Given the description of an element on the screen output the (x, y) to click on. 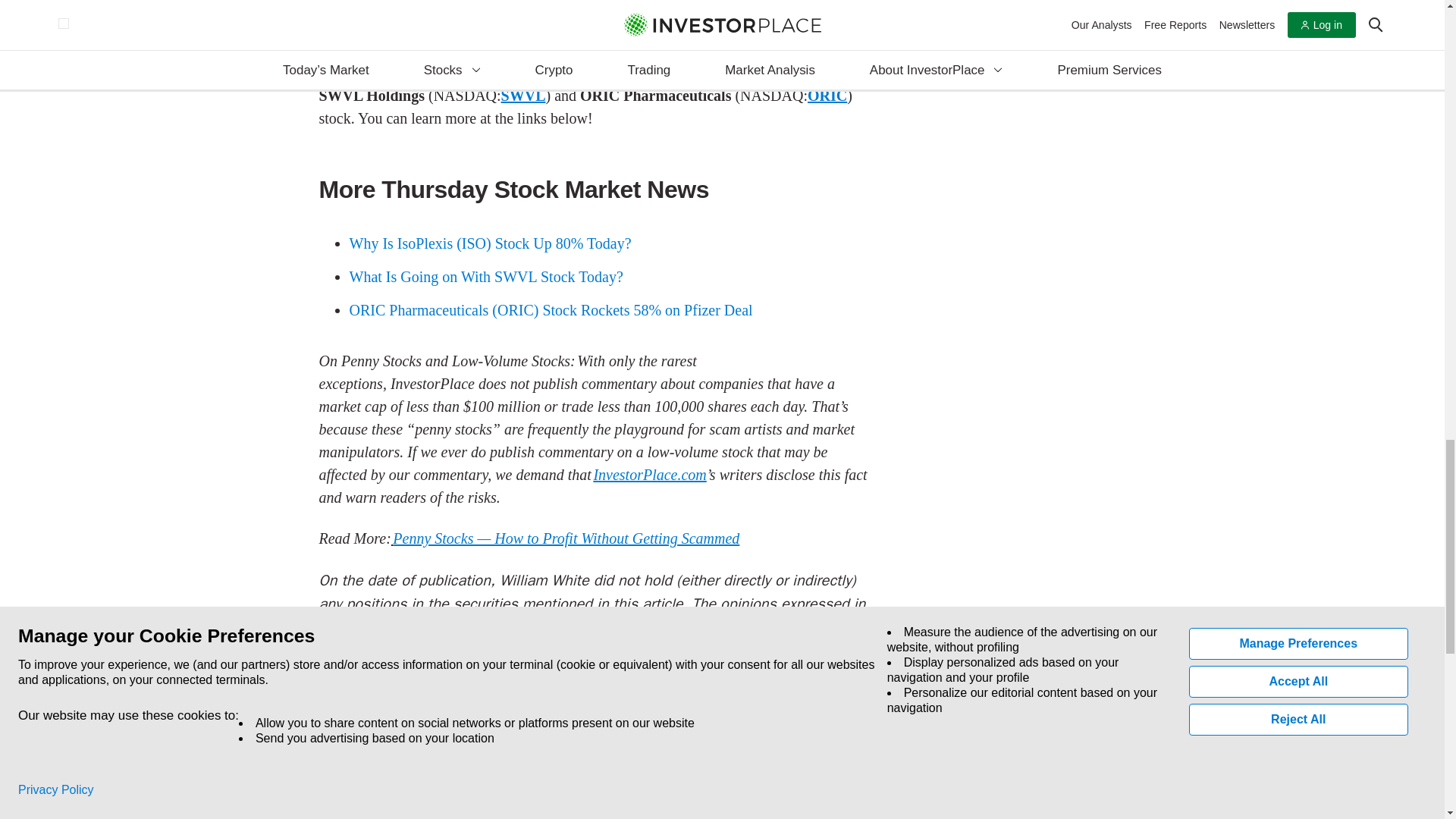
Articles from Penny Stocks stock type (359, 733)
Articles from Automotive industry (509, 692)
Articles from Electric Vehicles industry (604, 692)
Articles from Consumer Discretionary industry (391, 692)
